Given the description of an element on the screen output the (x, y) to click on. 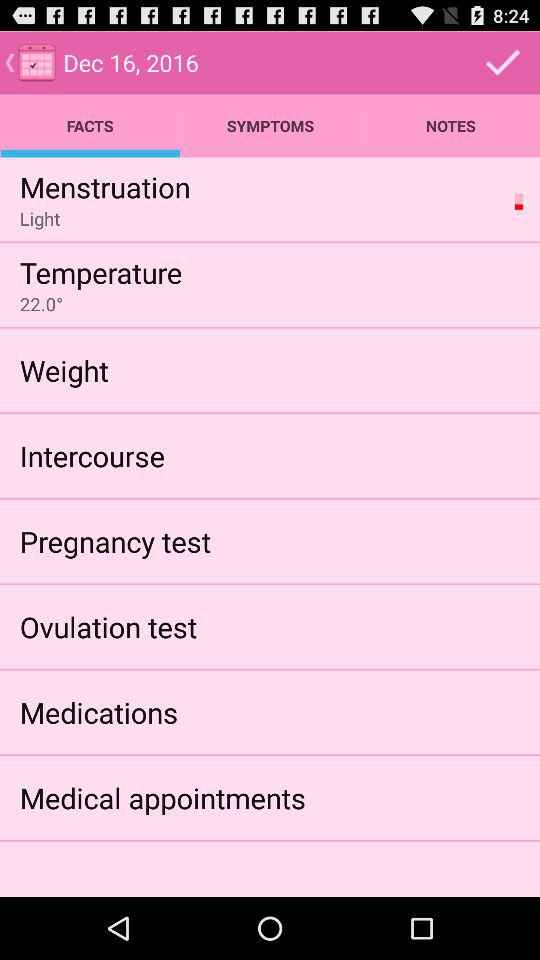
open item below medications icon (162, 797)
